Given the description of an element on the screen output the (x, y) to click on. 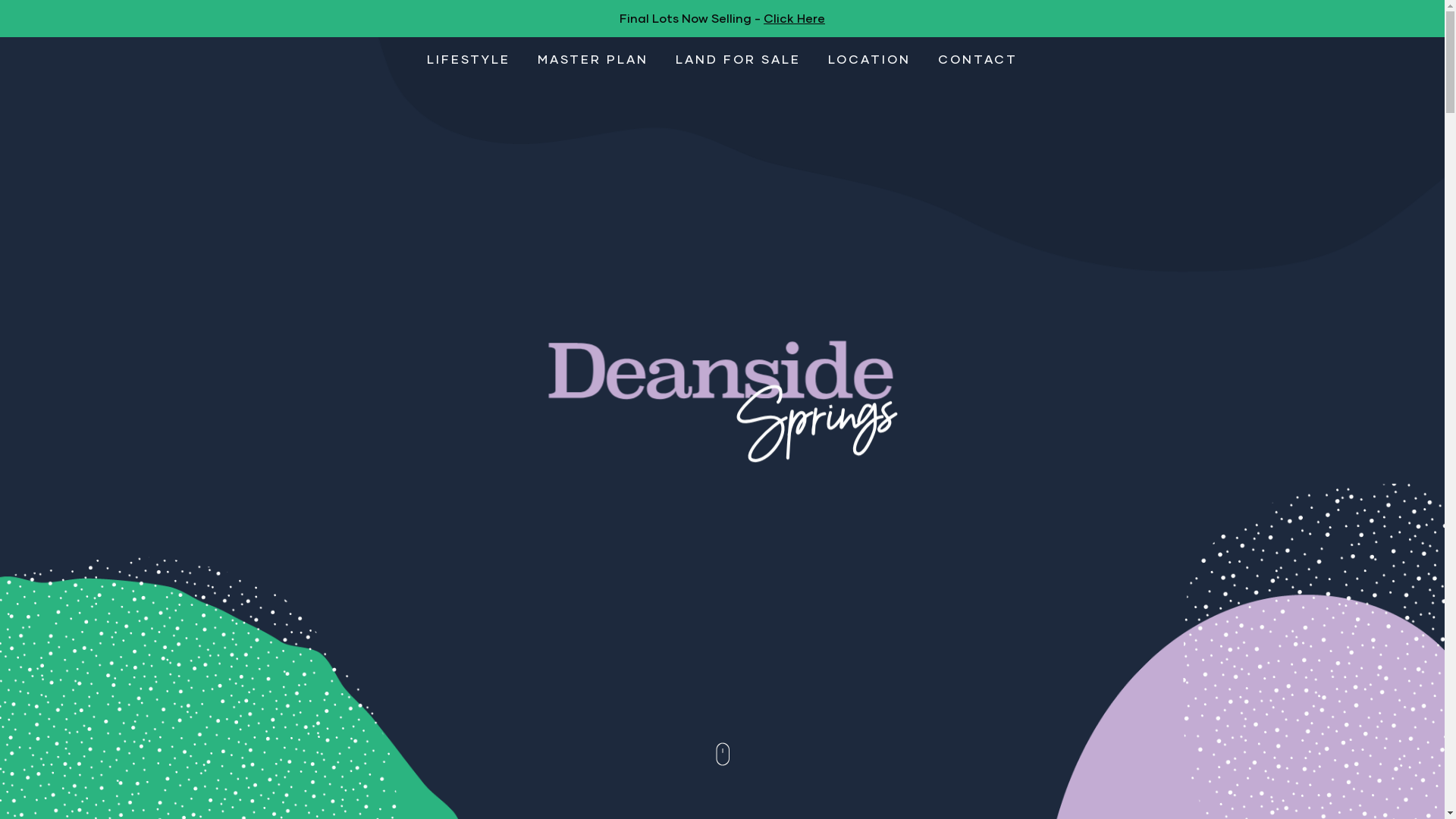
LAND FOR SALE Element type: text (737, 58)
LIFESTYLE Element type: text (468, 58)
CONTACT Element type: text (977, 58)
Click Here Element type: text (794, 17)
MASTER PLAN Element type: text (592, 58)
LOCATION Element type: text (869, 58)
